Given the description of an element on the screen output the (x, y) to click on. 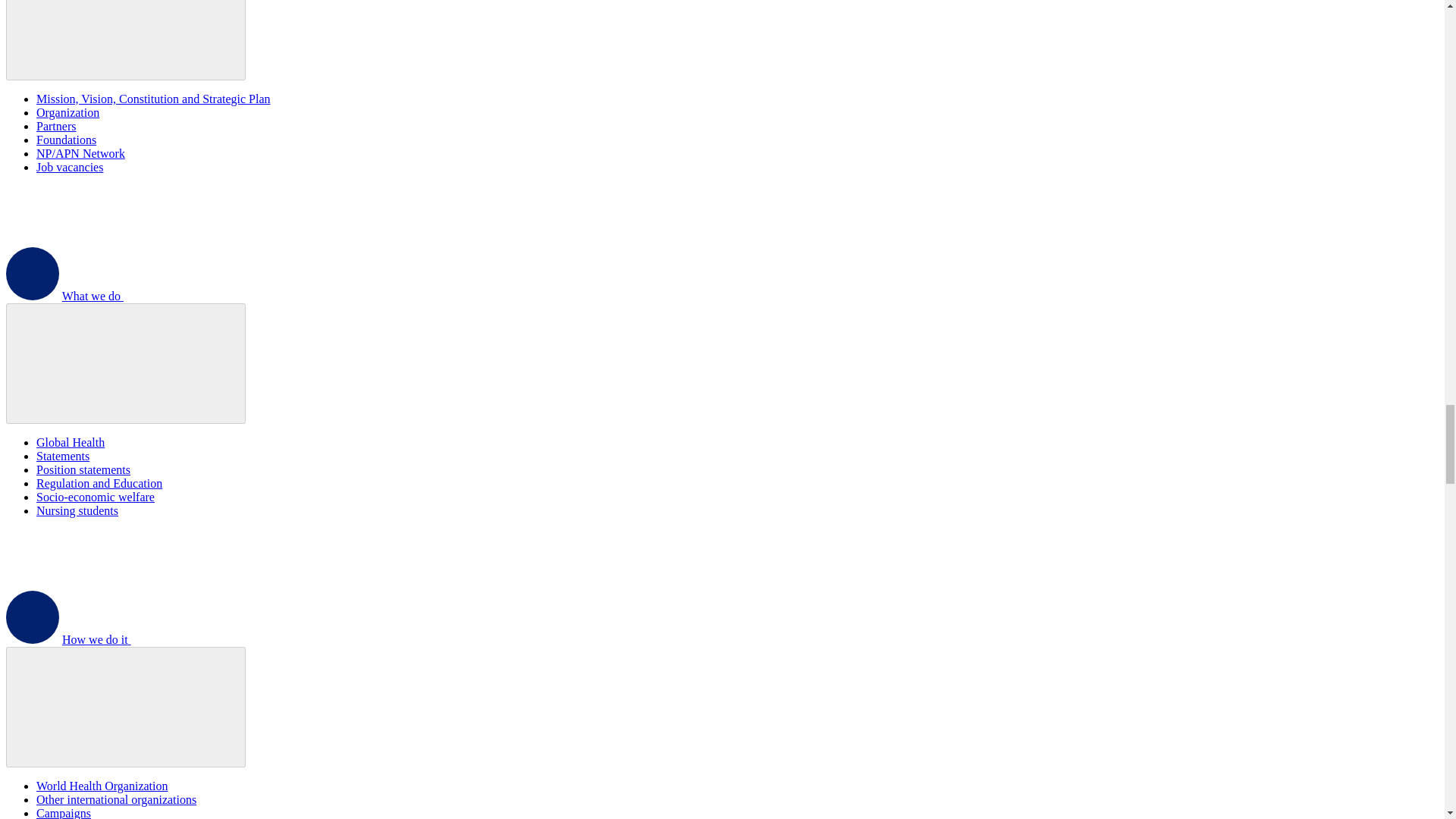
World Health Organization (101, 785)
Organization (67, 112)
How we do it (210, 639)
Socio-economic welfare (95, 496)
Campaigns (63, 812)
What we do (206, 295)
Nursing students (76, 510)
Job vacancies (69, 166)
Partners (55, 125)
Foundations (66, 139)
Statements (62, 455)
Other international organizations (116, 799)
Regulation and Education (98, 482)
Global Health (70, 441)
Mission, Vision, Constitution and Strategic Plan (153, 98)
